Given the description of an element on the screen output the (x, y) to click on. 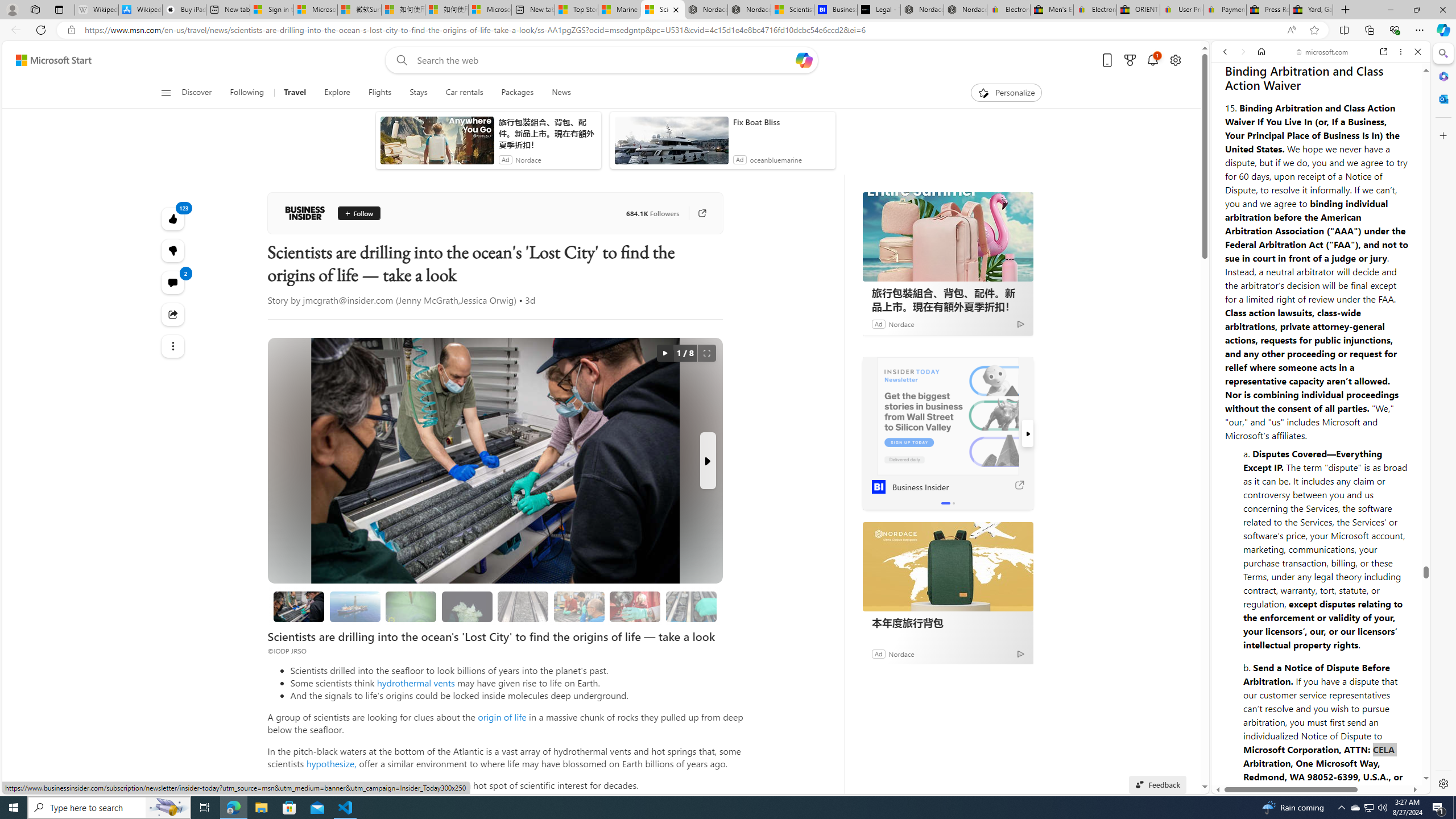
Microsoft account | Account Checkup (489, 9)
Explore (336, 92)
Share this story (172, 314)
Business Insider (305, 213)
Class: at-item (172, 345)
